Given the description of an element on the screen output the (x, y) to click on. 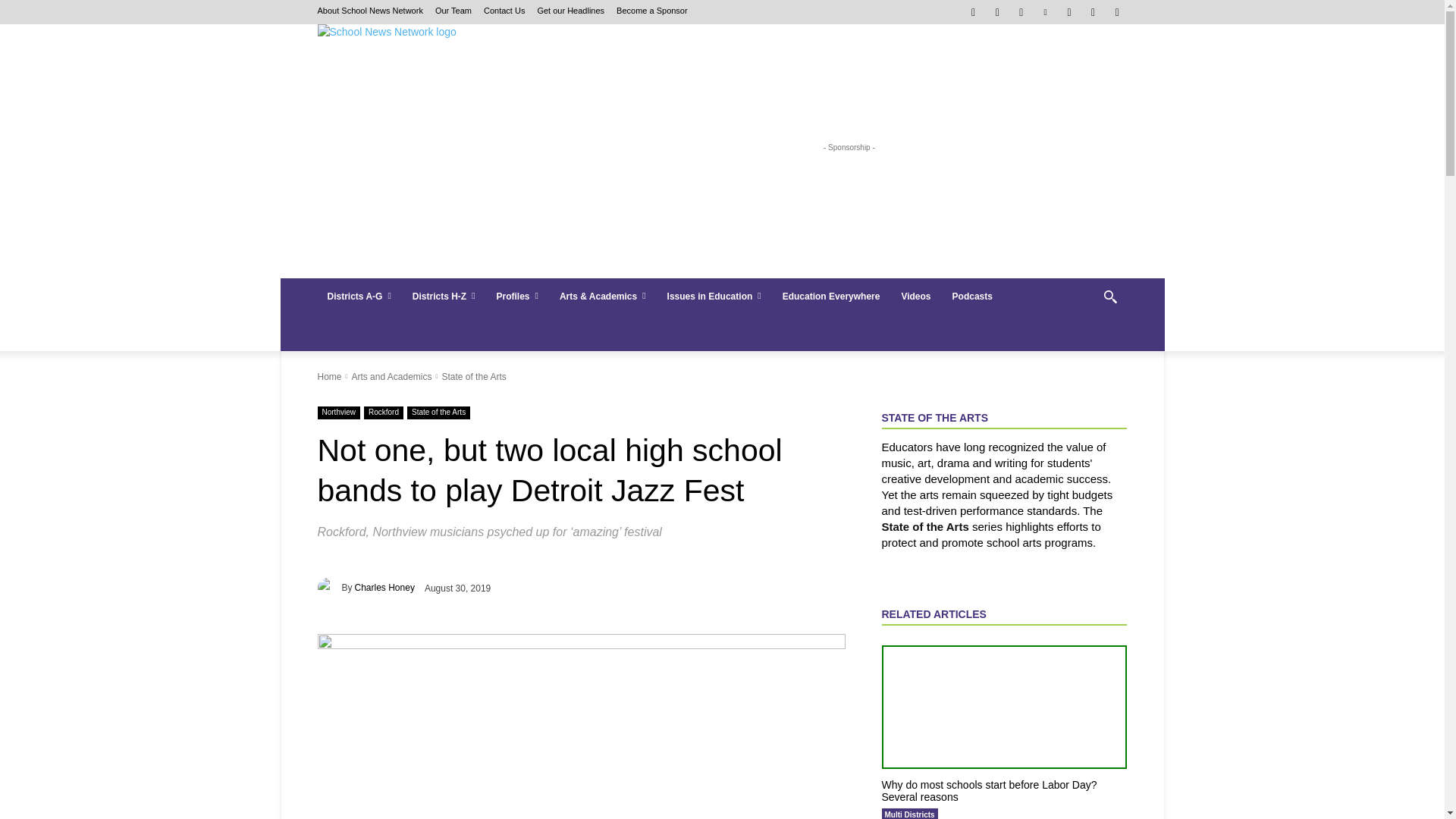
Facebook (973, 11)
Mail (1021, 11)
Instagram (997, 11)
Pinterest (1045, 11)
